Given the description of an element on the screen output the (x, y) to click on. 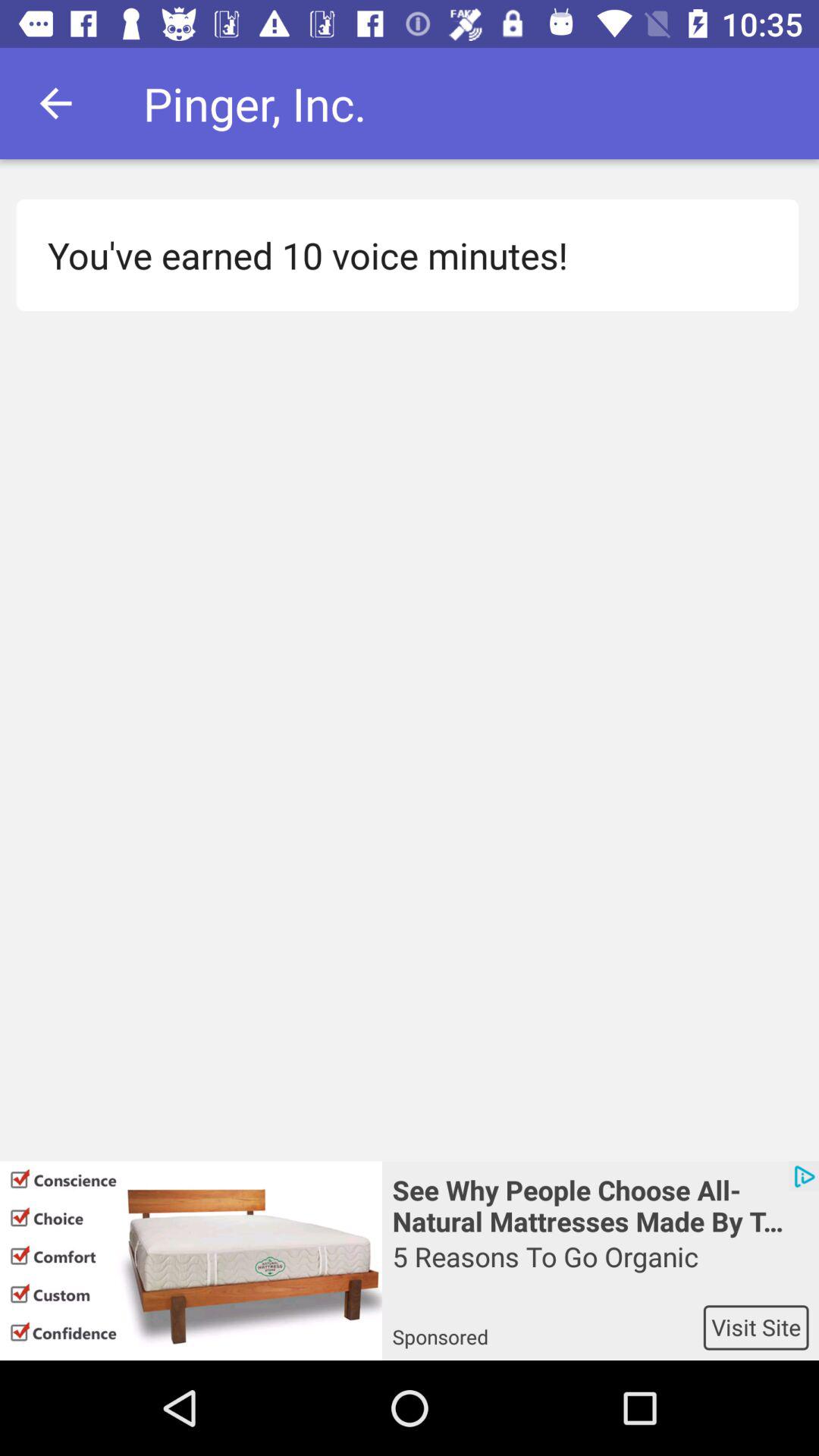
turn on the see why people item (600, 1204)
